Given the description of an element on the screen output the (x, y) to click on. 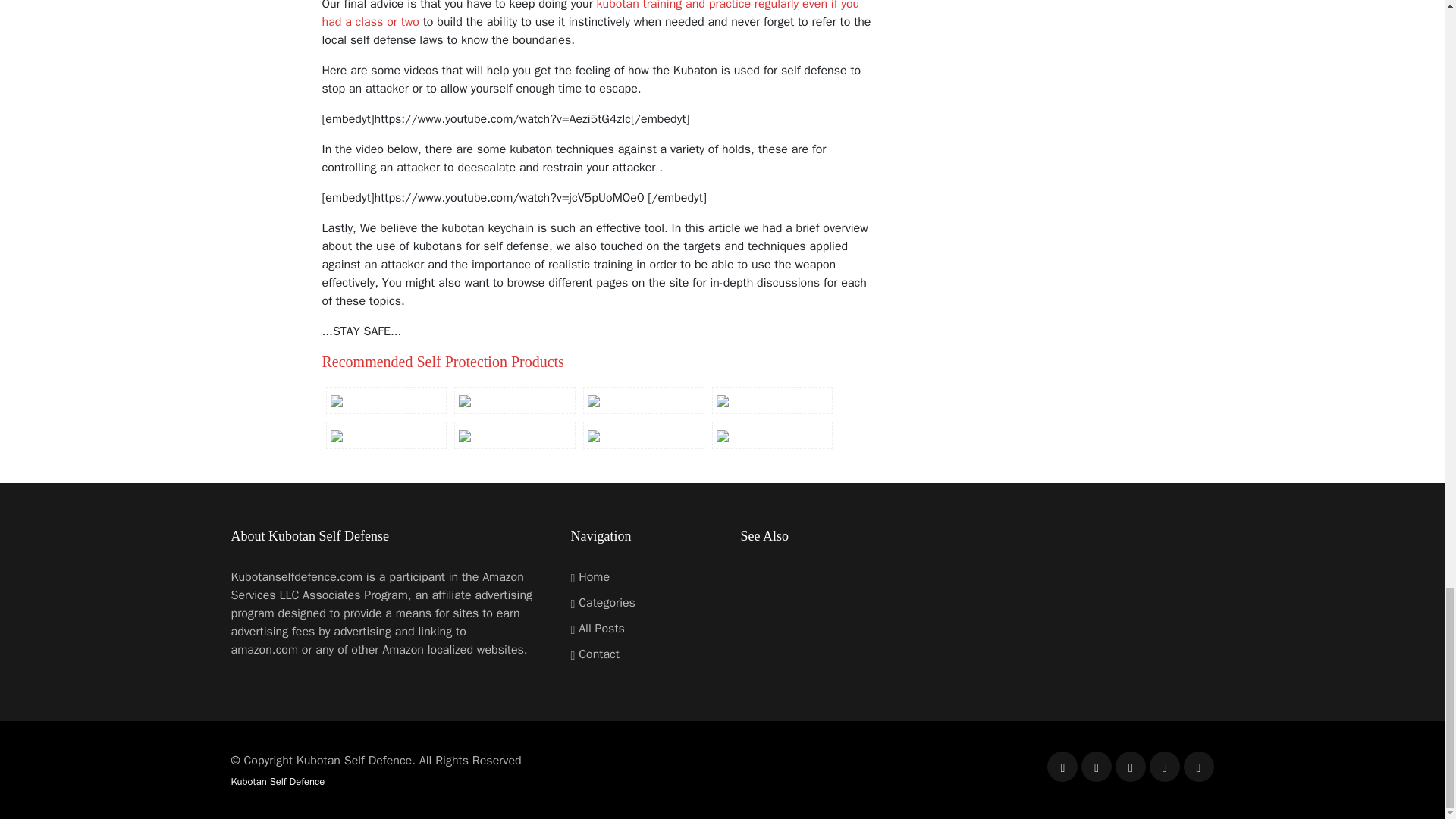
Categories (602, 602)
Home (590, 576)
